Given the description of an element on the screen output the (x, y) to click on. 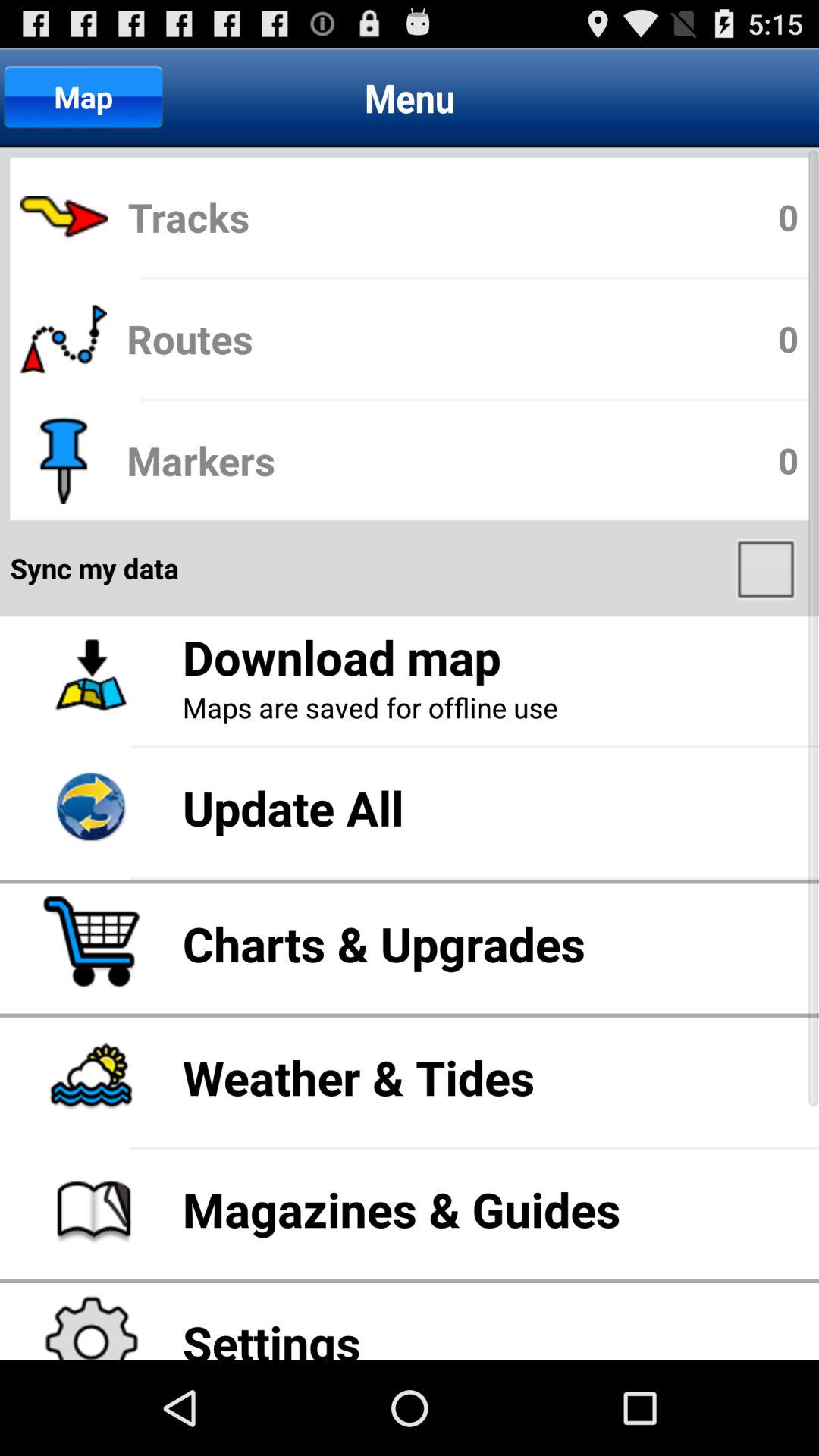
tap item below markers app (767, 567)
